Given the description of an element on the screen output the (x, y) to click on. 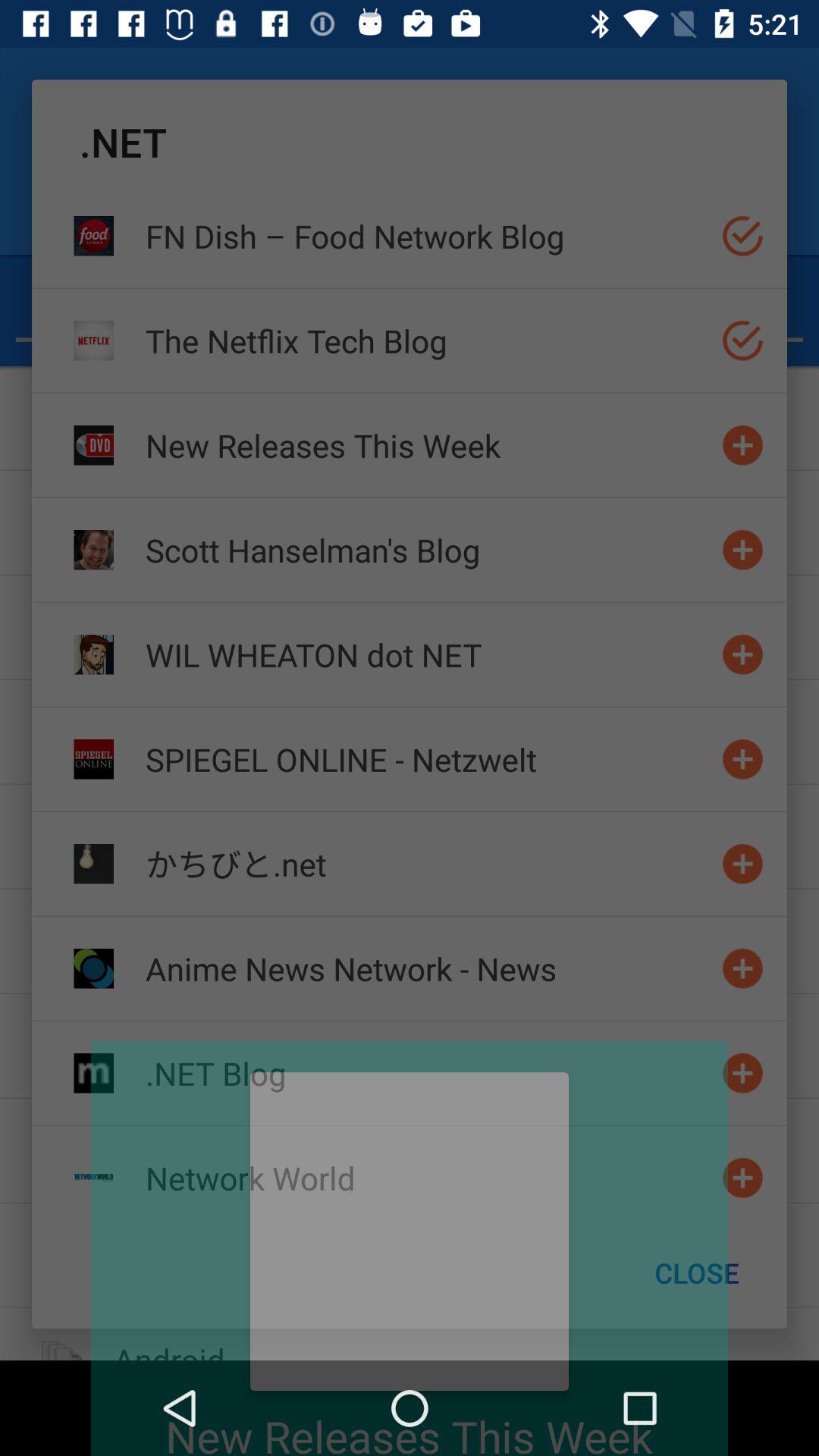
choose item below .net item (426, 235)
